Given the description of an element on the screen output the (x, y) to click on. 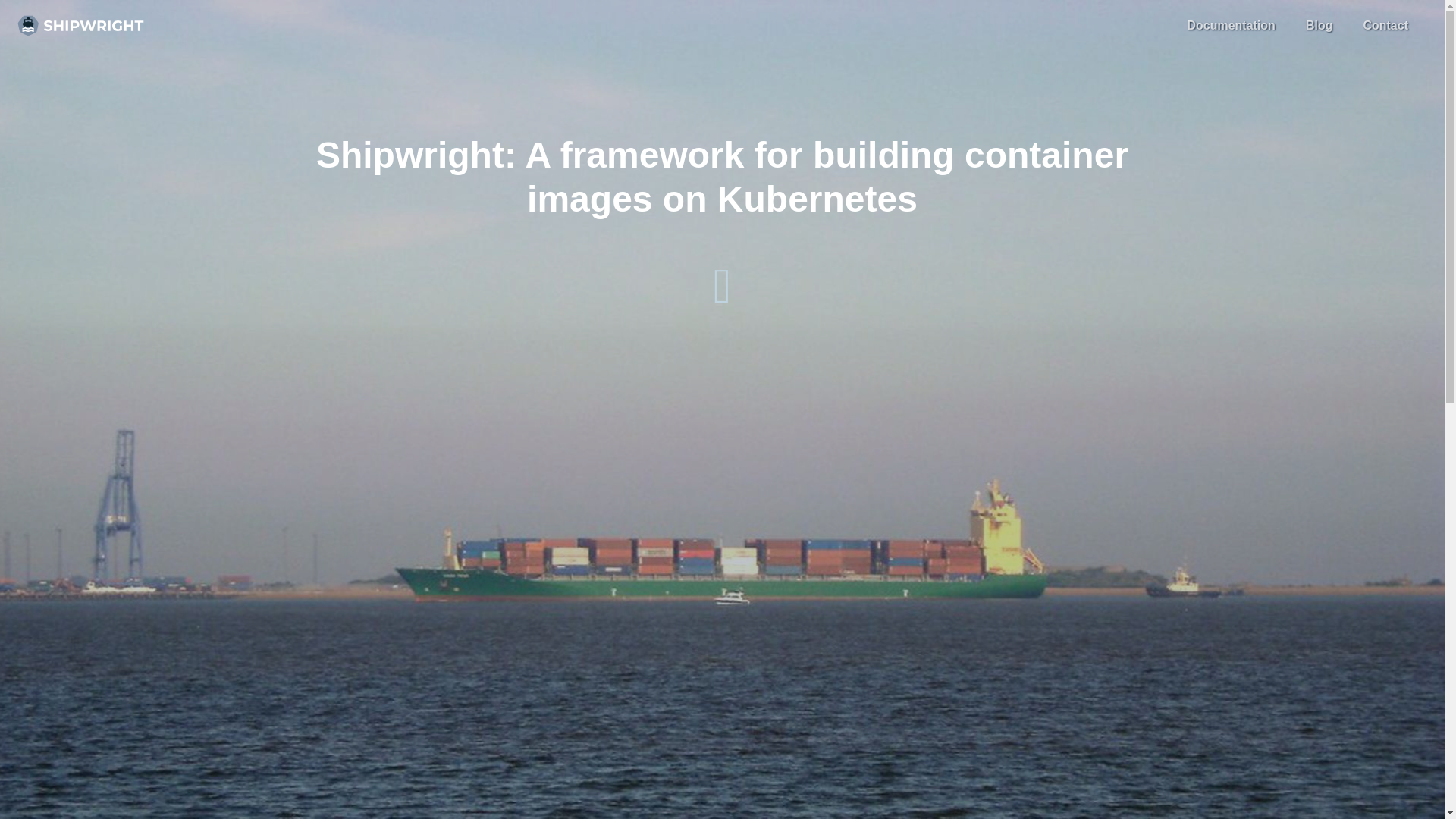
Documentation (1230, 25)
Contact (1384, 25)
Blog (1319, 25)
